Given the description of an element on the screen output the (x, y) to click on. 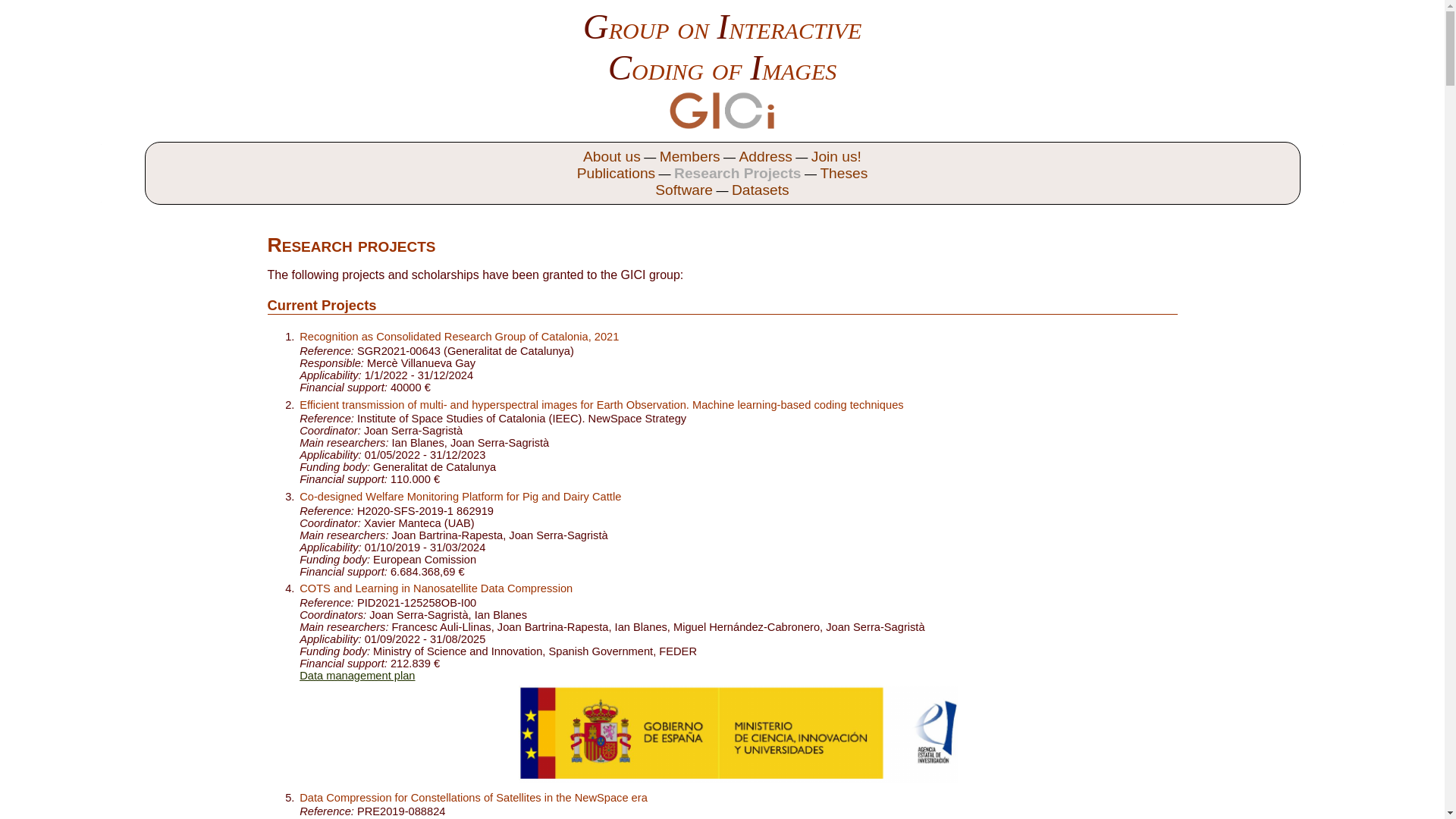
Publications Element type: text (616, 173)
Join us! Element type: text (836, 156)
Datasets Element type: text (760, 189)
Data management plan Element type: text (356, 675)
About us Element type: text (611, 156)
Theses Element type: text (843, 173)
Members Element type: text (689, 156)
Software Element type: text (683, 189)
Address Element type: text (765, 156)
